Given the description of an element on the screen output the (x, y) to click on. 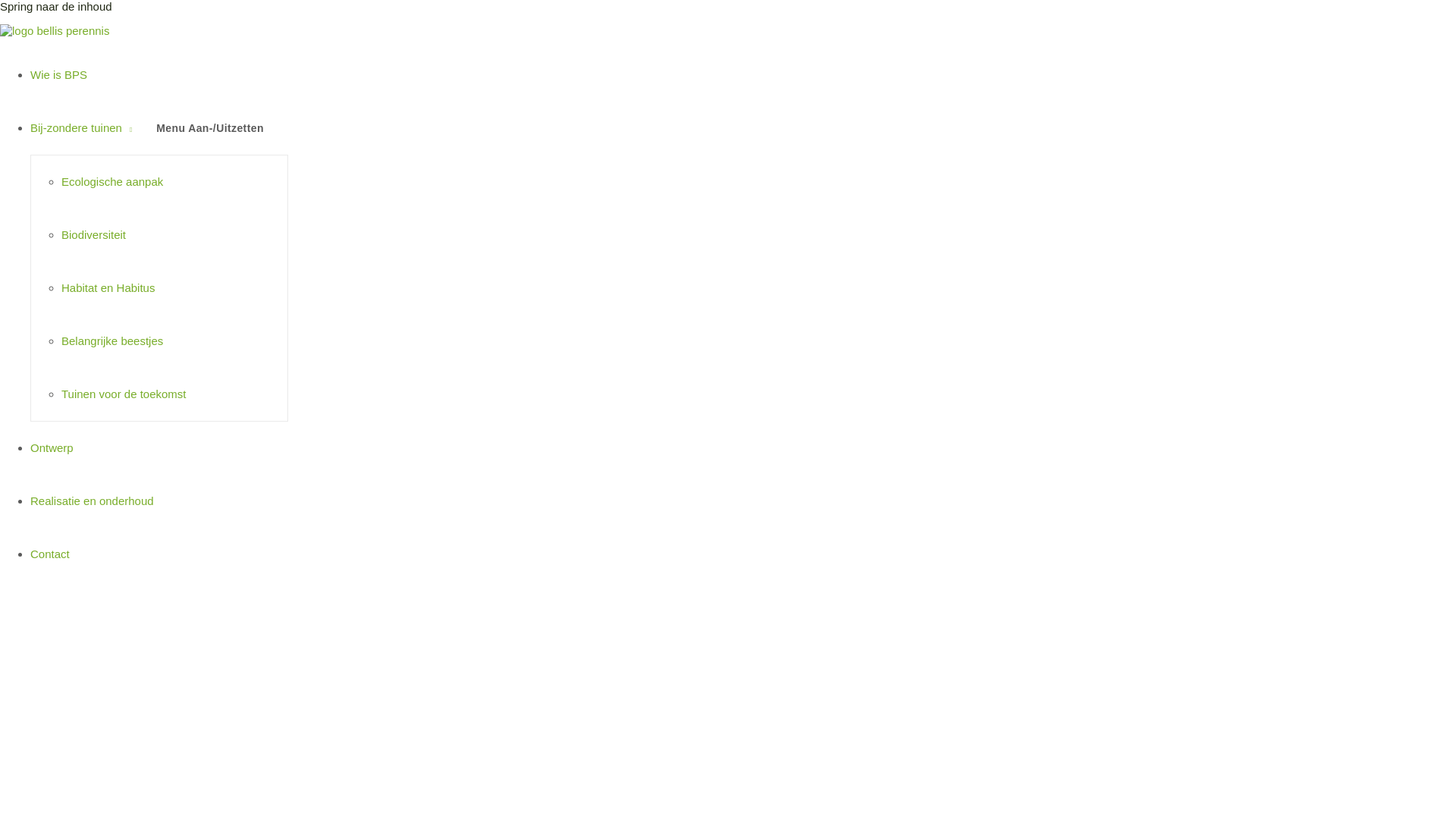
Biodiversiteit Element type: text (93, 234)
Contact Element type: text (49, 553)
Habitat en Habitus Element type: text (107, 287)
Wie is BPS Element type: text (58, 74)
Spring naar de inhoud Element type: text (56, 6)
Ontwerp Element type: text (51, 447)
Menu Aan-/Uitzetten Element type: text (209, 128)
Realisatie en onderhoud Element type: text (91, 500)
Belangrijke beestjes Element type: text (112, 340)
Bij-zondere tuinen Element type: text (80, 127)
Ecologische aanpak Element type: text (112, 181)
Tuinen voor de toekomst Element type: text (123, 393)
